Given the description of an element on the screen output the (x, y) to click on. 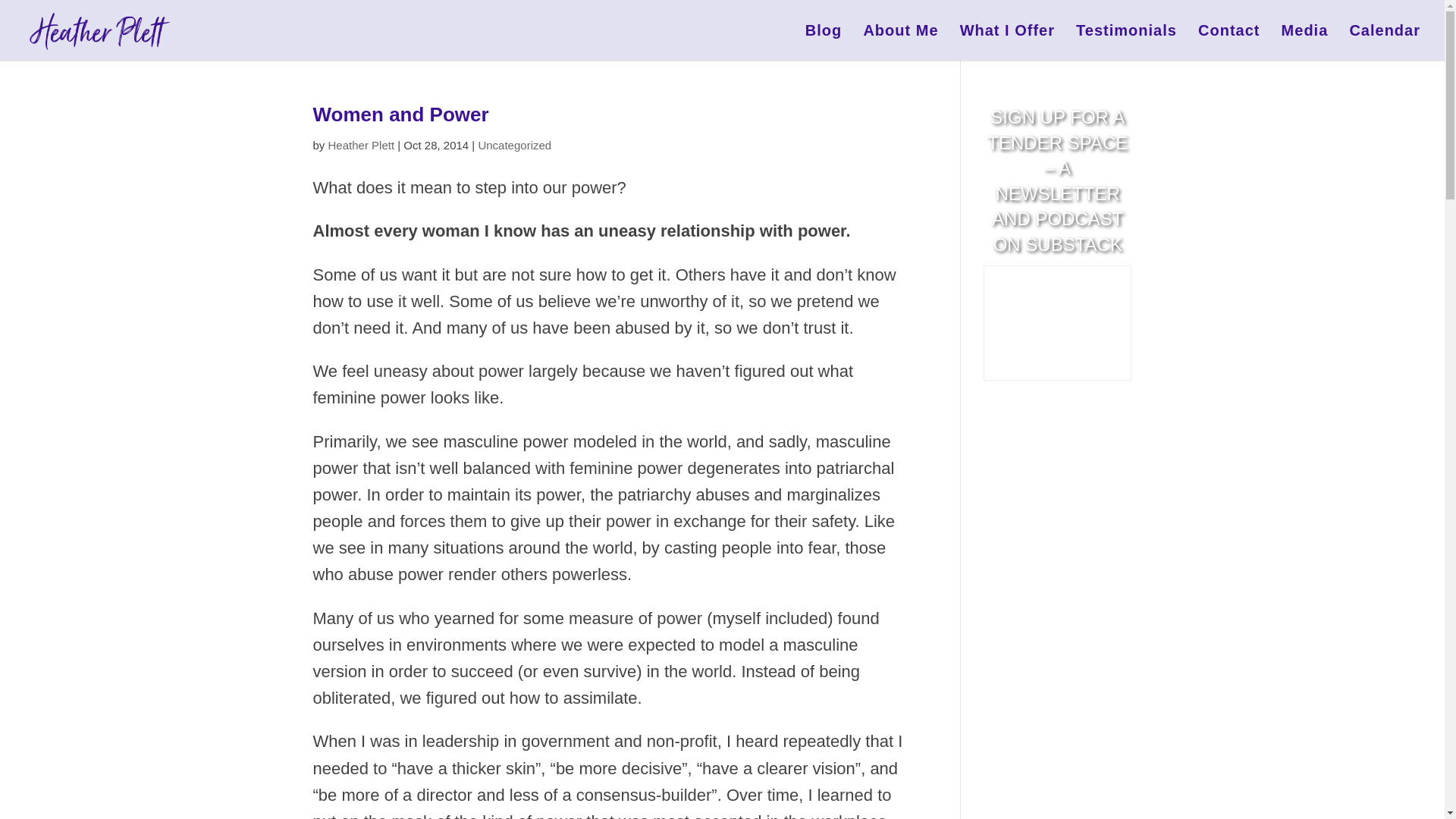
What I Offer (1006, 42)
Posts by Heather Plett (361, 144)
About Me (900, 42)
Women and Power (400, 114)
Contact (1228, 42)
Testimonials (1125, 42)
Uncategorized (514, 144)
Heather Plett (361, 144)
Calendar (1385, 42)
Media (1304, 42)
Blog (823, 42)
